Given the description of an element on the screen output the (x, y) to click on. 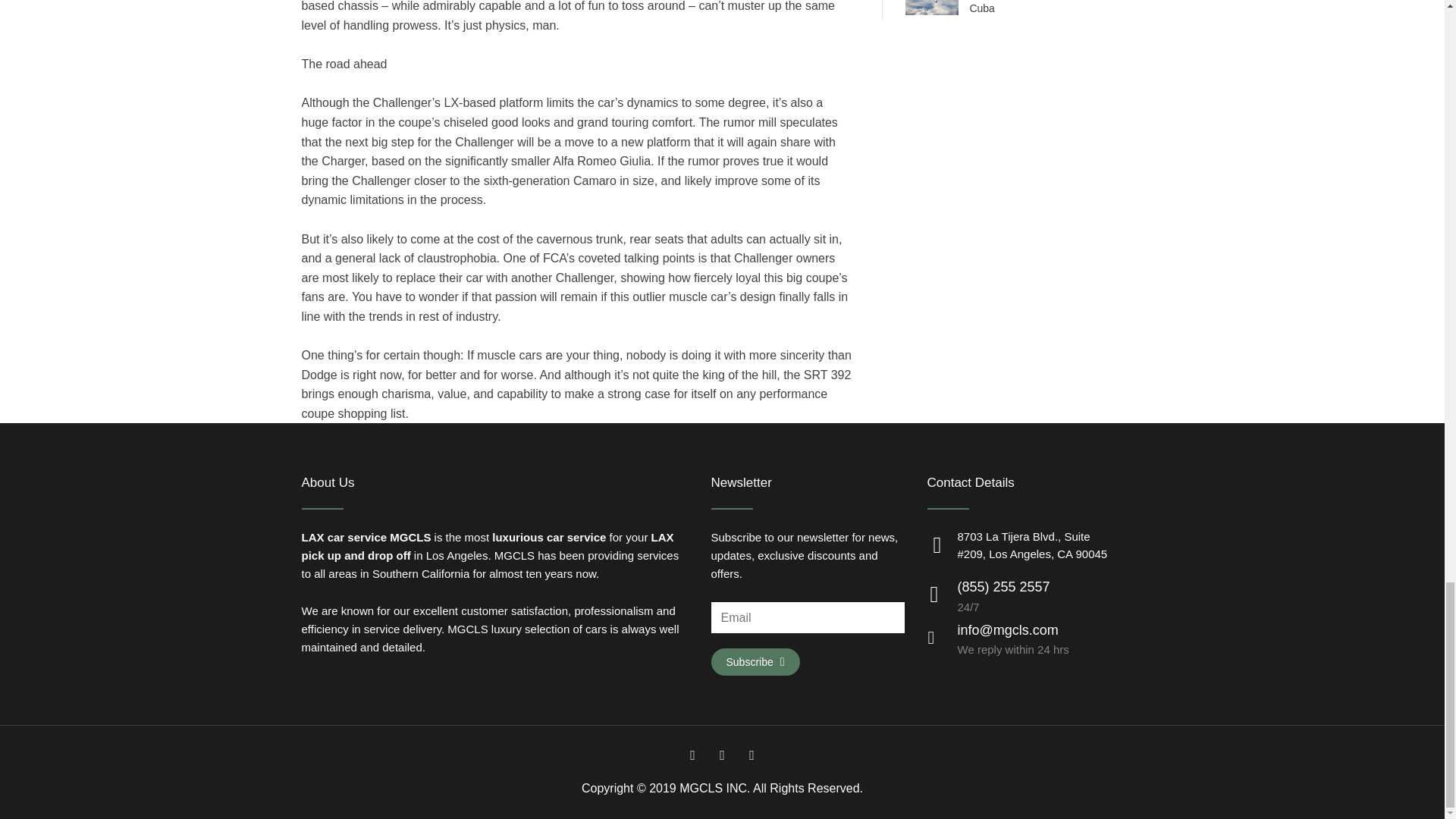
Mike G California Limousine Service (466, 628)
Mike G California Limousine Service (514, 554)
Los Angeles International Airport (662, 536)
Mike G California Limousine Service (410, 536)
Los Angeles International Airport (312, 536)
